Given the description of an element on the screen output the (x, y) to click on. 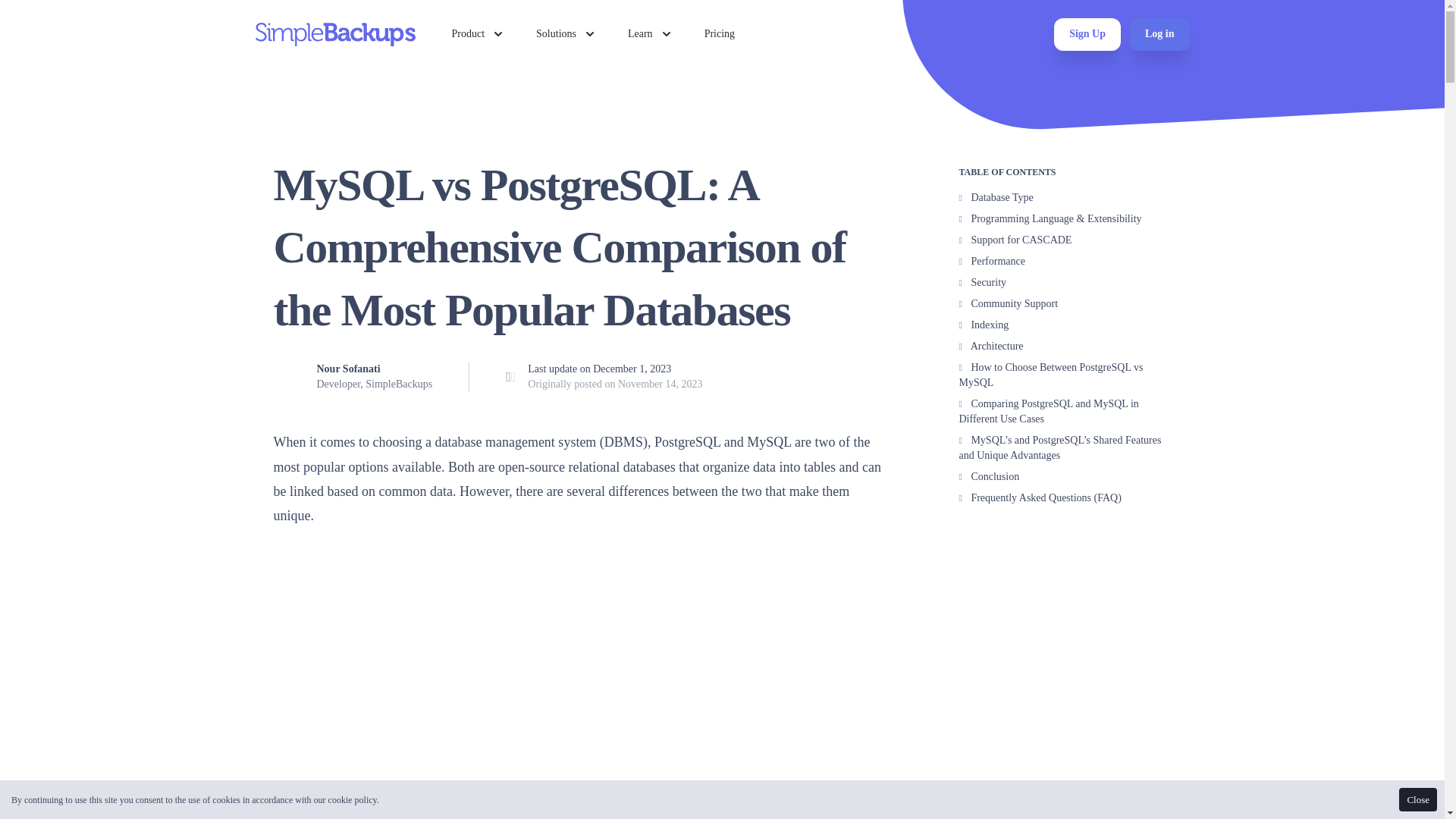
Support for CASCADE (1014, 239)
Pricing (719, 33)
Architecture (990, 346)
Conclusion (988, 476)
Security (982, 282)
Product (478, 33)
Sign Up (1087, 34)
Performance (991, 260)
Comparing PostgreSQL and MySQL in Different Use Cases (1048, 411)
SimpleBackups (334, 33)
Log in (1159, 34)
Solutions (565, 33)
How to Choose Between PostgreSQL vs MySQL (1050, 374)
Indexing (983, 324)
Database Type (995, 197)
